Given the description of an element on the screen output the (x, y) to click on. 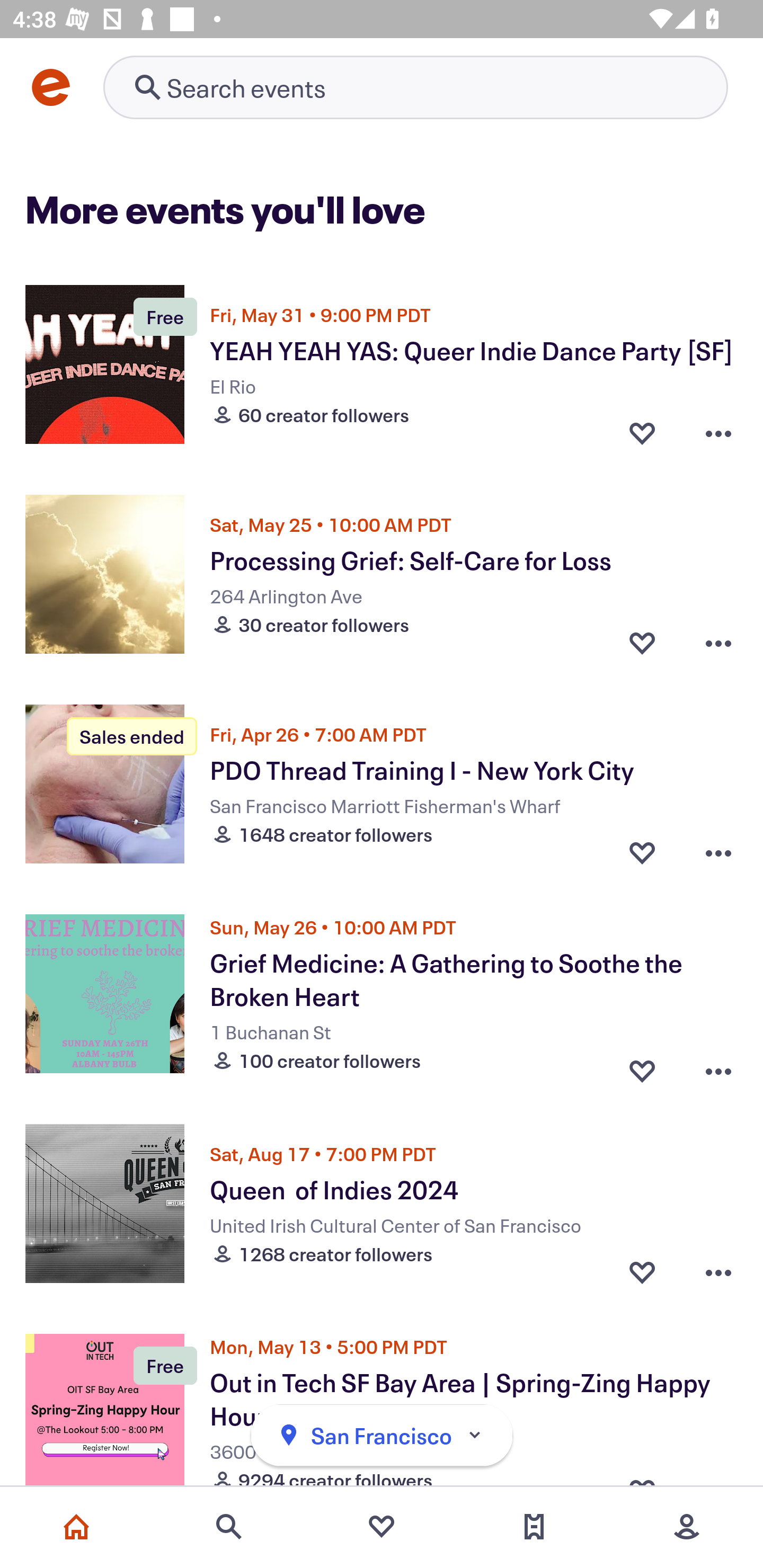
Retry's image Search events (415, 86)
Favorite button (642, 431)
Overflow menu button (718, 431)
Favorite button (642, 641)
Overflow menu button (718, 641)
Favorite button (642, 852)
Overflow menu button (718, 852)
Favorite button (642, 1066)
Overflow menu button (718, 1066)
Favorite button (642, 1271)
Overflow menu button (718, 1271)
San Francisco (381, 1435)
Home (76, 1526)
Search events (228, 1526)
Favorites (381, 1526)
Tickets (533, 1526)
More (686, 1526)
